Given the description of an element on the screen output the (x, y) to click on. 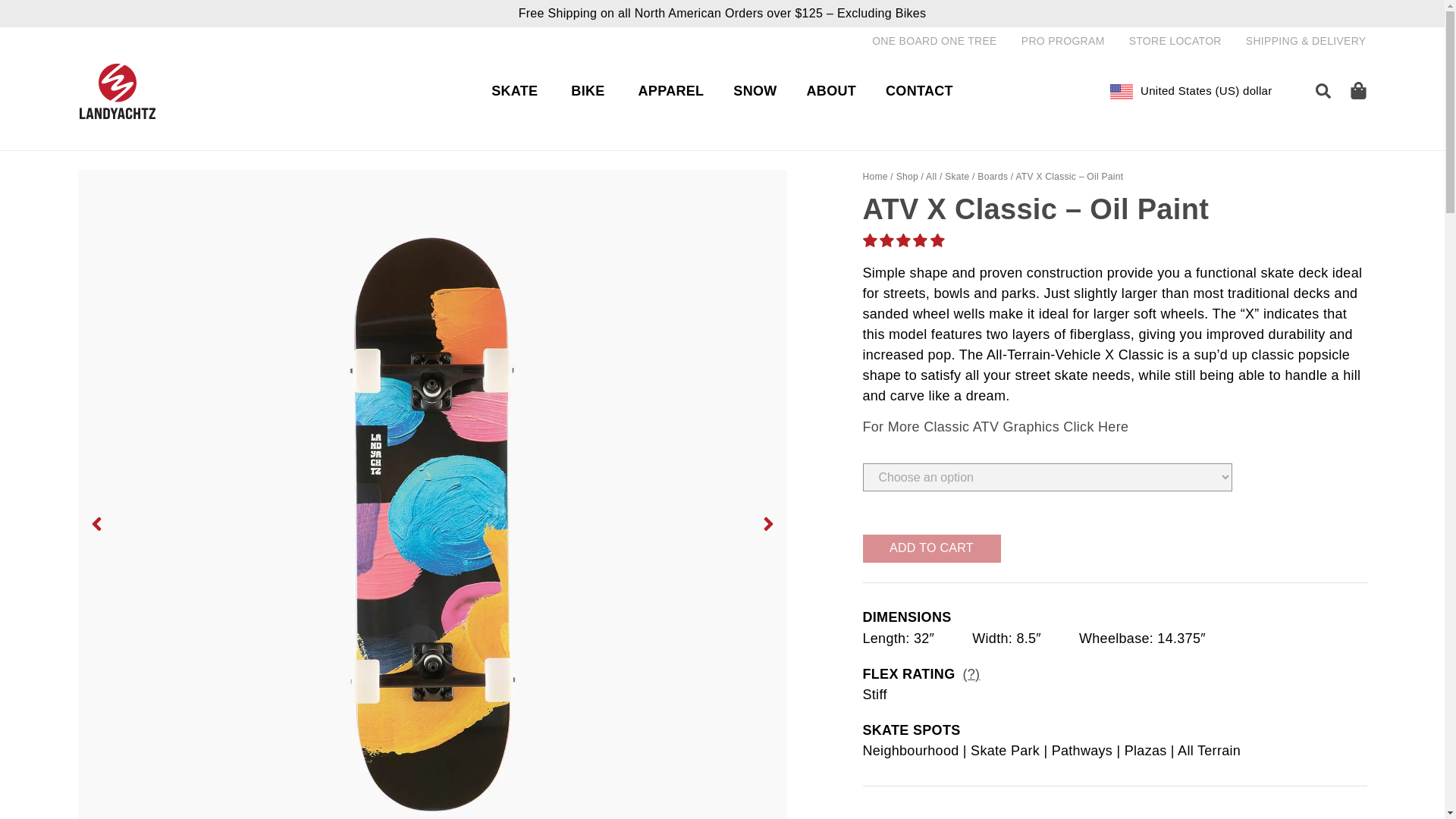
STORE LOCATOR (1175, 41)
ONE BOARD ONE TREE (934, 41)
PRO PROGRAM (1063, 41)
SKATE (514, 91)
